Given the description of an element on the screen output the (x, y) to click on. 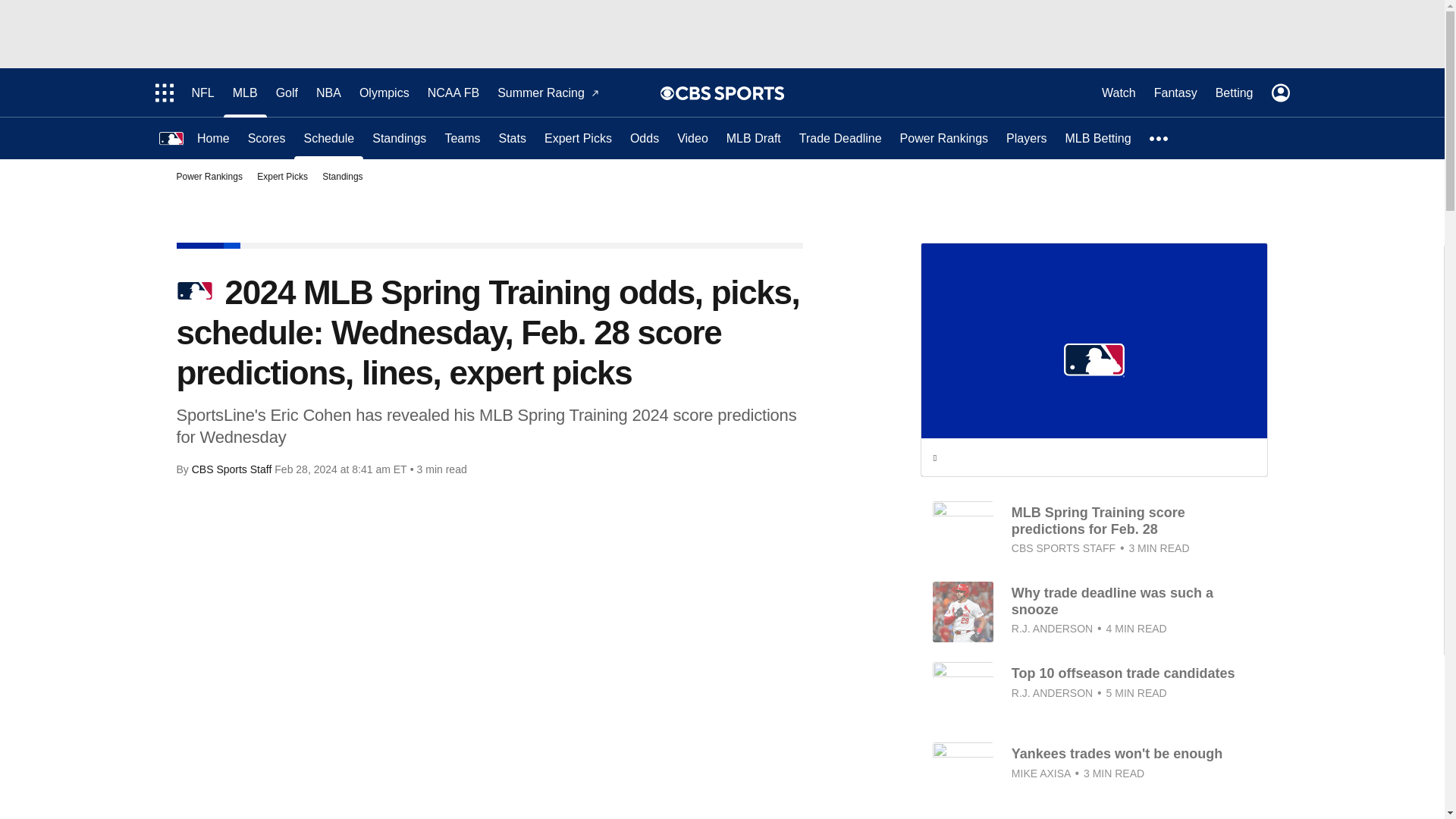
CBS Logo (729, 92)
CBS Eye (667, 92)
